Given the description of an element on the screen output the (x, y) to click on. 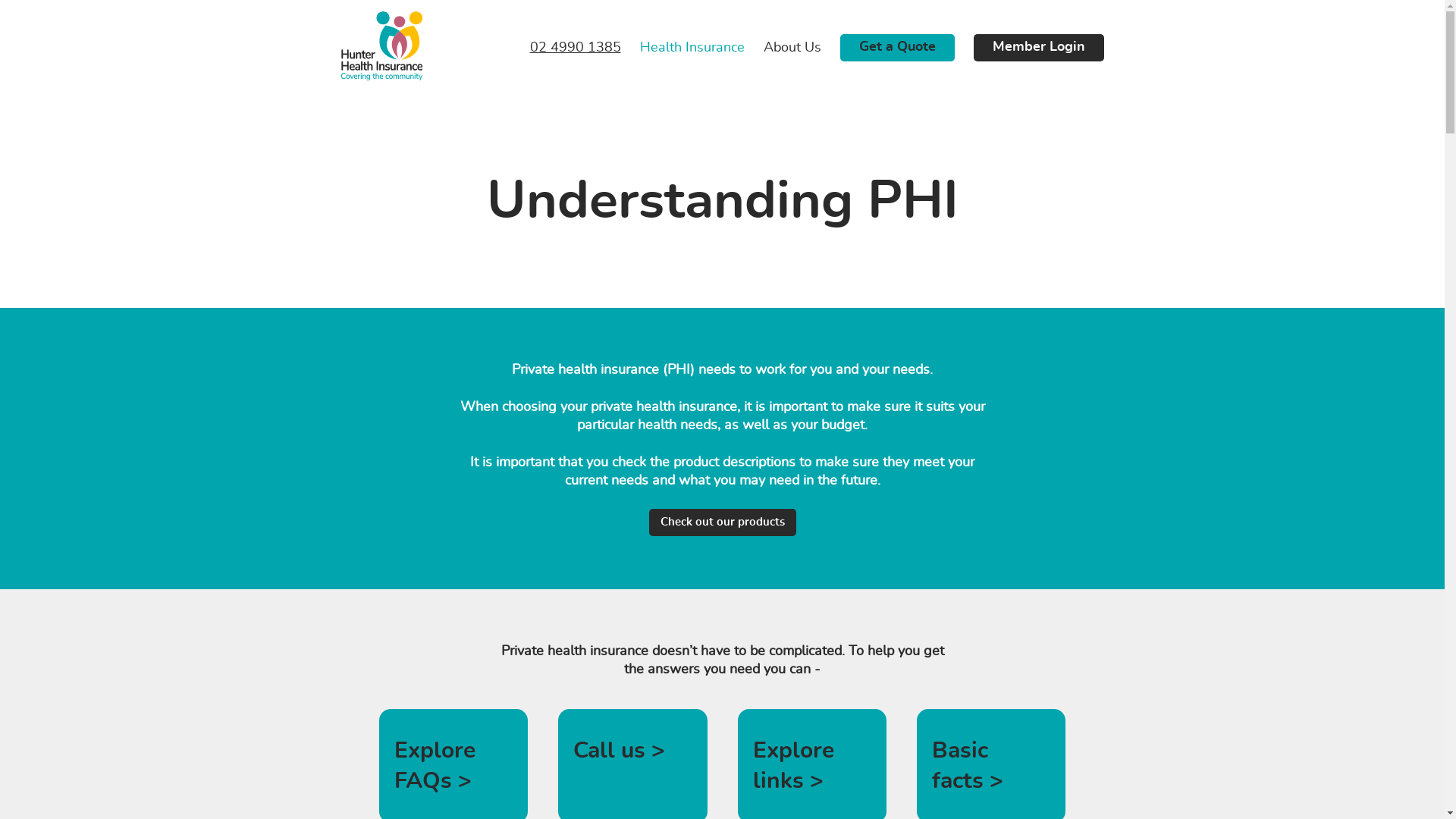
Explore FAQs > Element type: text (434, 765)
Member Login Element type: text (1038, 46)
Basic facts > Element type: text (967, 765)
Get a Quote Element type: text (897, 46)
Explore links > Element type: text (792, 765)
About Us Element type: text (782, 47)
Health Insurance Element type: text (681, 47)
02 4990 1385 Element type: text (566, 47)
Check out our products Element type: text (722, 522)
Call us > Element type: text (619, 750)
